Given the description of an element on the screen output the (x, y) to click on. 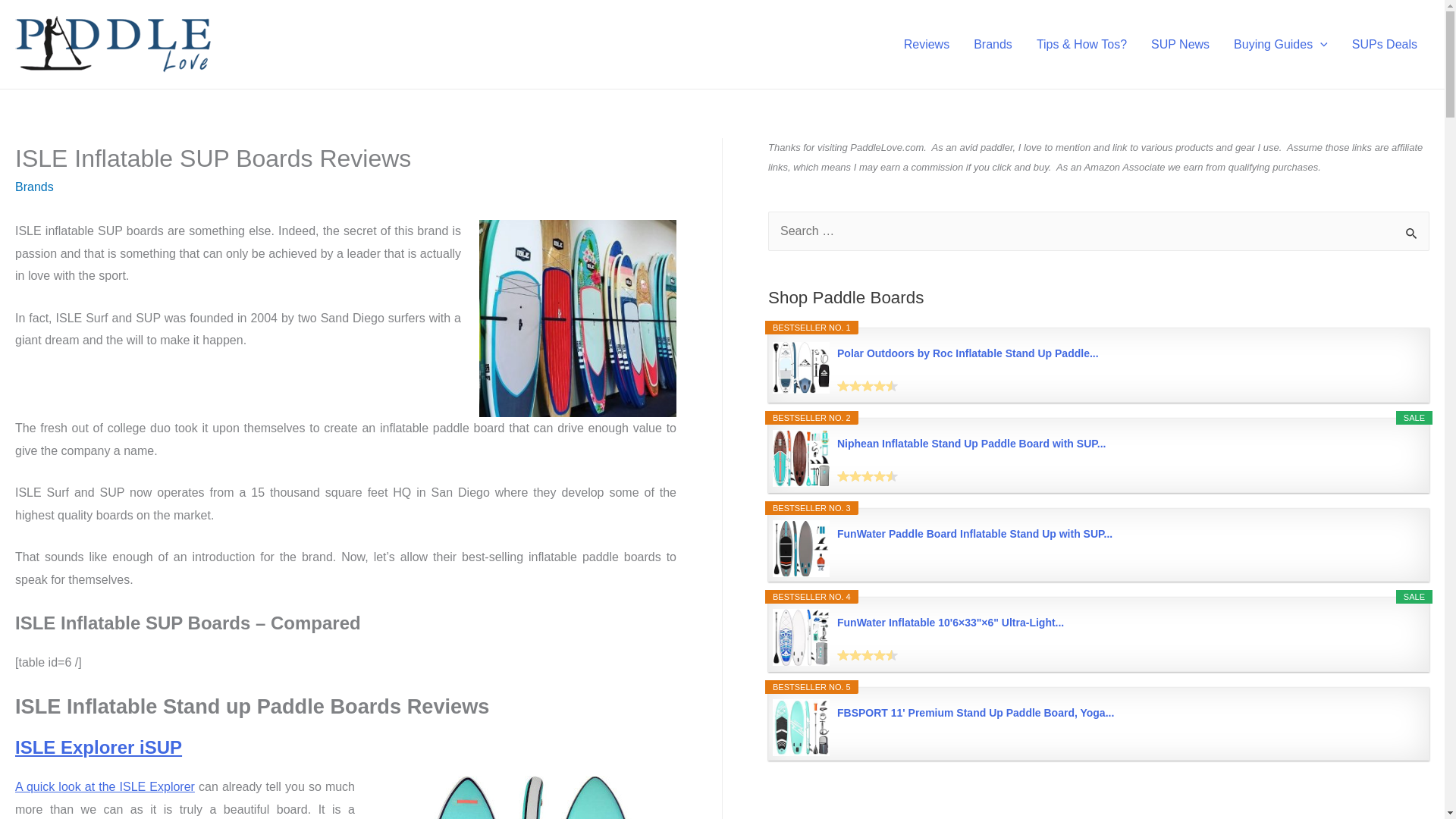
SUP News (1179, 44)
Reviews on Amazon (867, 386)
SUPs Deals (1384, 44)
Brands (992, 44)
Reviews (925, 44)
Brands (33, 186)
A quick look at the ISLE Explorer (104, 786)
Buying Guides (1280, 44)
Reviews on Amazon (867, 476)
